Given the description of an element on the screen output the (x, y) to click on. 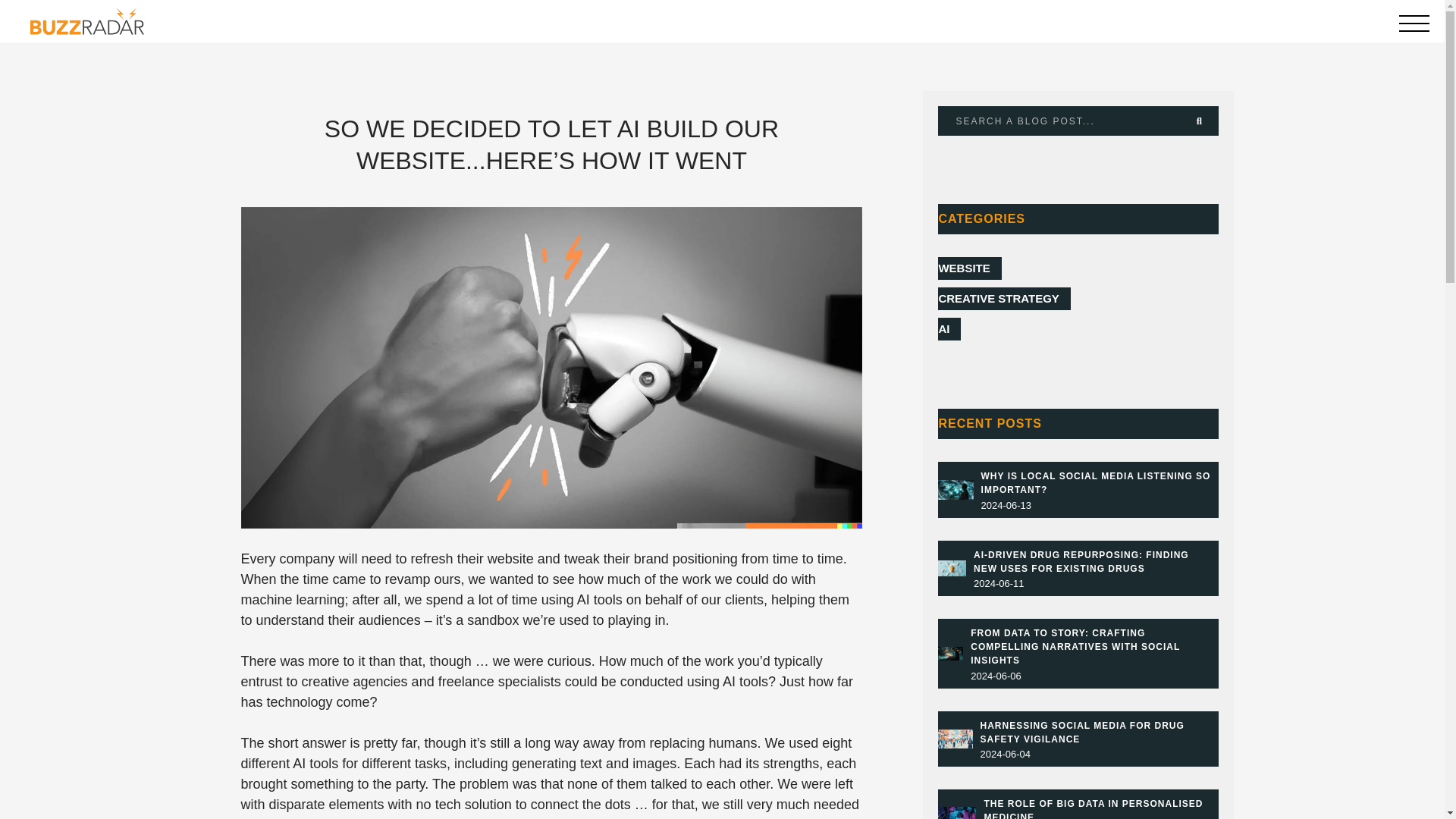
AI (948, 328)
WHY IS LOCAL SOCIAL MEDIA LISTENING SO IMPORTANT? (1096, 482)
THE ROLE OF BIG DATA IN PERSONALISED MEDICINE (1093, 808)
HARNESSING SOCIAL MEDIA FOR DRUG SAFETY VIGILANCE (1082, 732)
WEBSITE (969, 268)
CREATIVE STRATEGY (1003, 298)
